Given the description of an element on the screen output the (x, y) to click on. 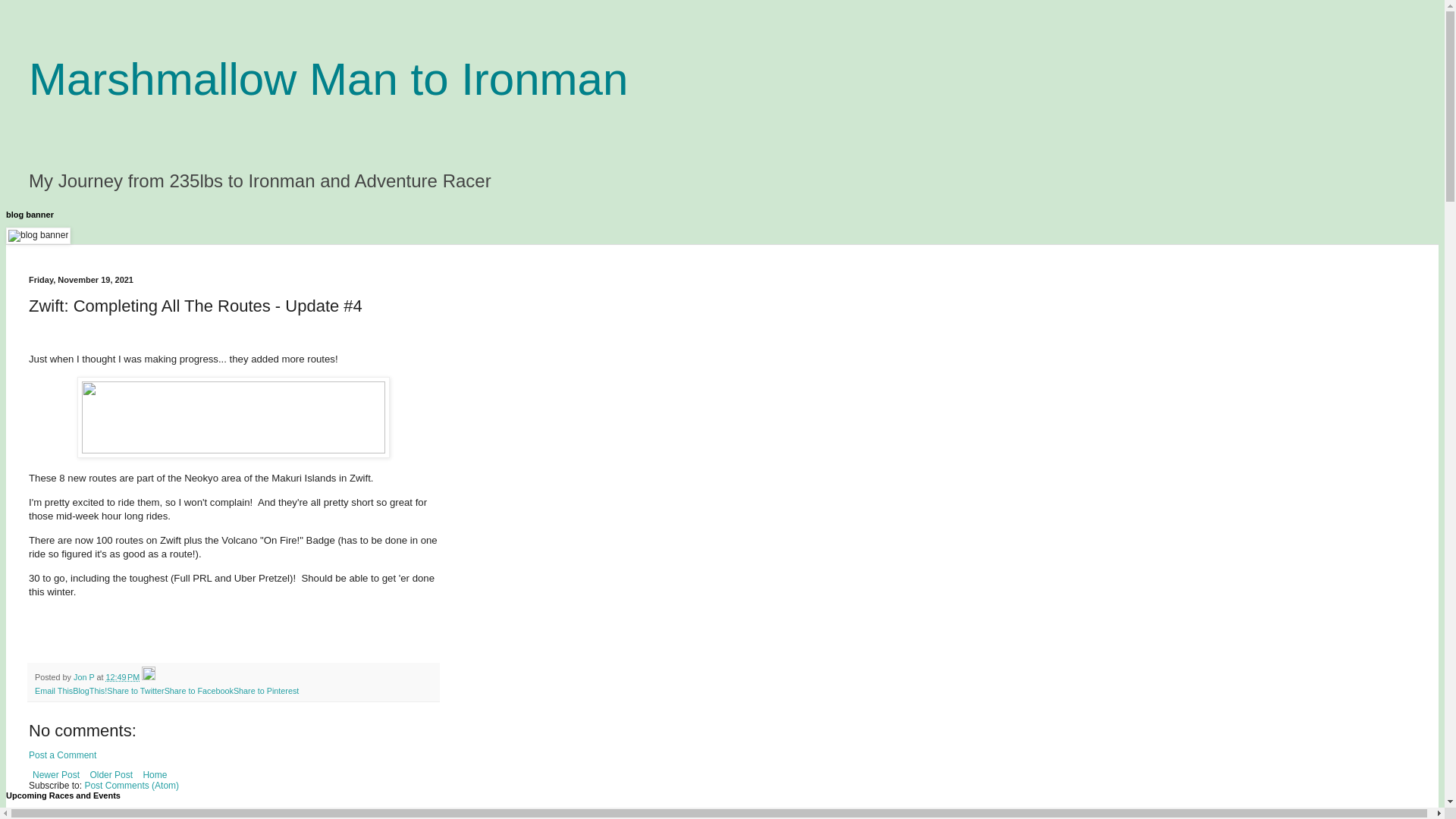
Post a Comment (62, 755)
BlogThis! (89, 690)
Jon P (85, 676)
Older Post (110, 774)
Share to Pinterest (265, 690)
Share to Twitter (134, 690)
author profile (85, 676)
Email This (53, 690)
Edit Post (148, 676)
Newer Post (55, 774)
Share to Facebook (198, 690)
Email This (53, 690)
Share to Pinterest (265, 690)
permanent link (121, 676)
